Given the description of an element on the screen output the (x, y) to click on. 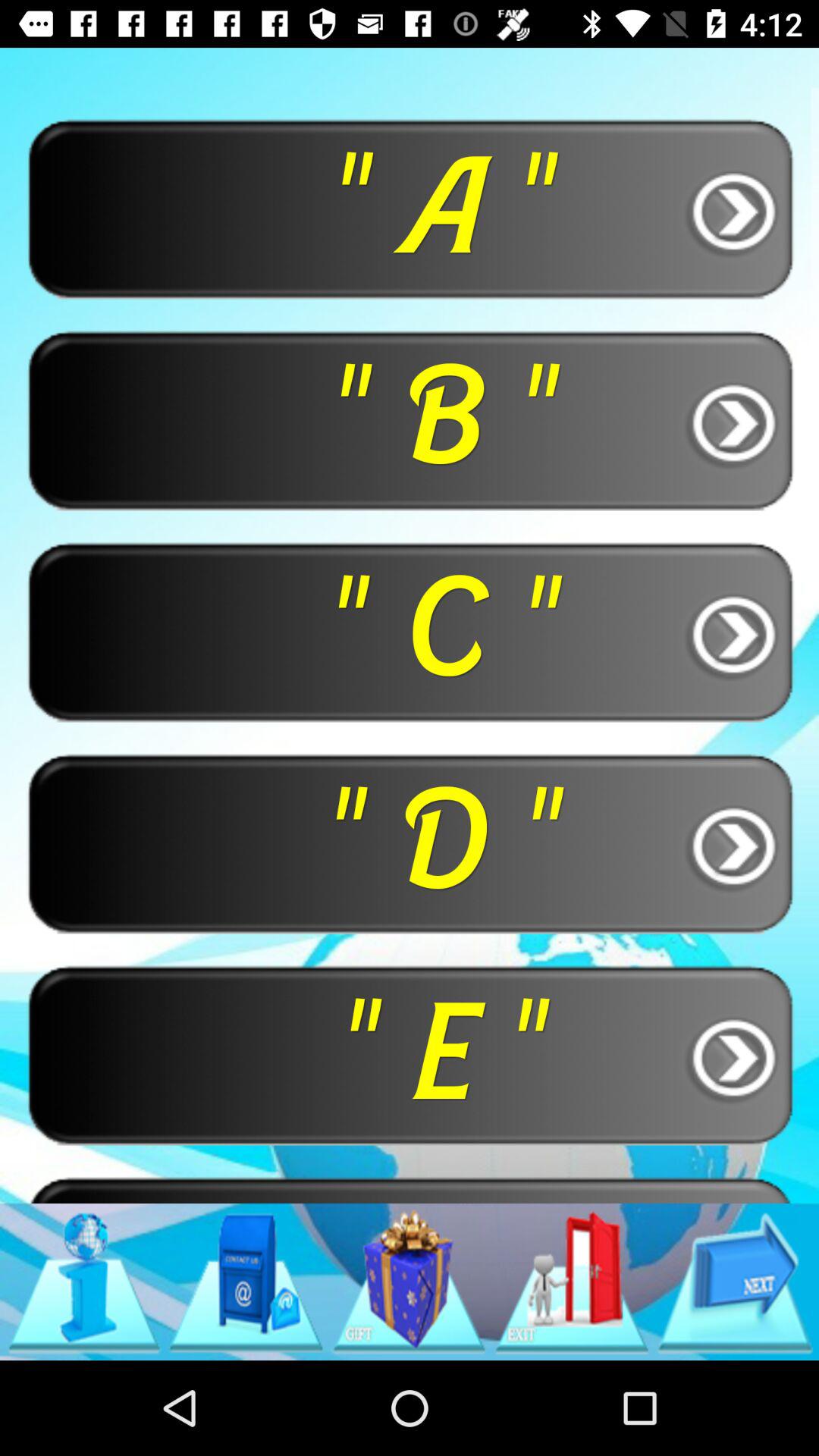
turn on item below the   " f " (571, 1281)
